Given the description of an element on the screen output the (x, y) to click on. 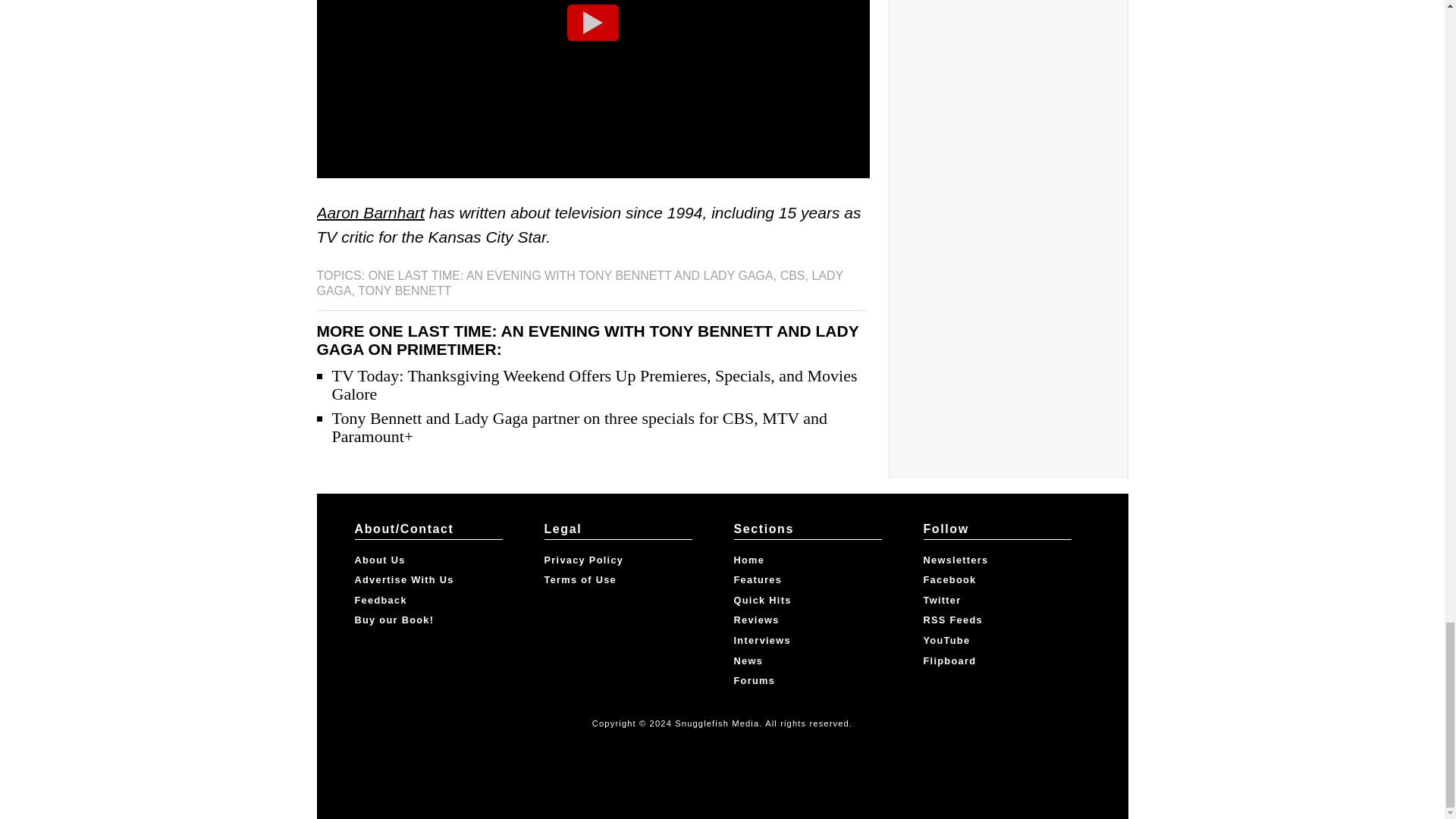
Aaron Barnhart (371, 212)
CBS (792, 275)
LADY GAGA (580, 283)
ONE LAST TIME: AN EVENING WITH TONY BENNETT AND LADY GAGA (570, 275)
TONY BENNETT (404, 290)
